Given the description of an element on the screen output the (x, y) to click on. 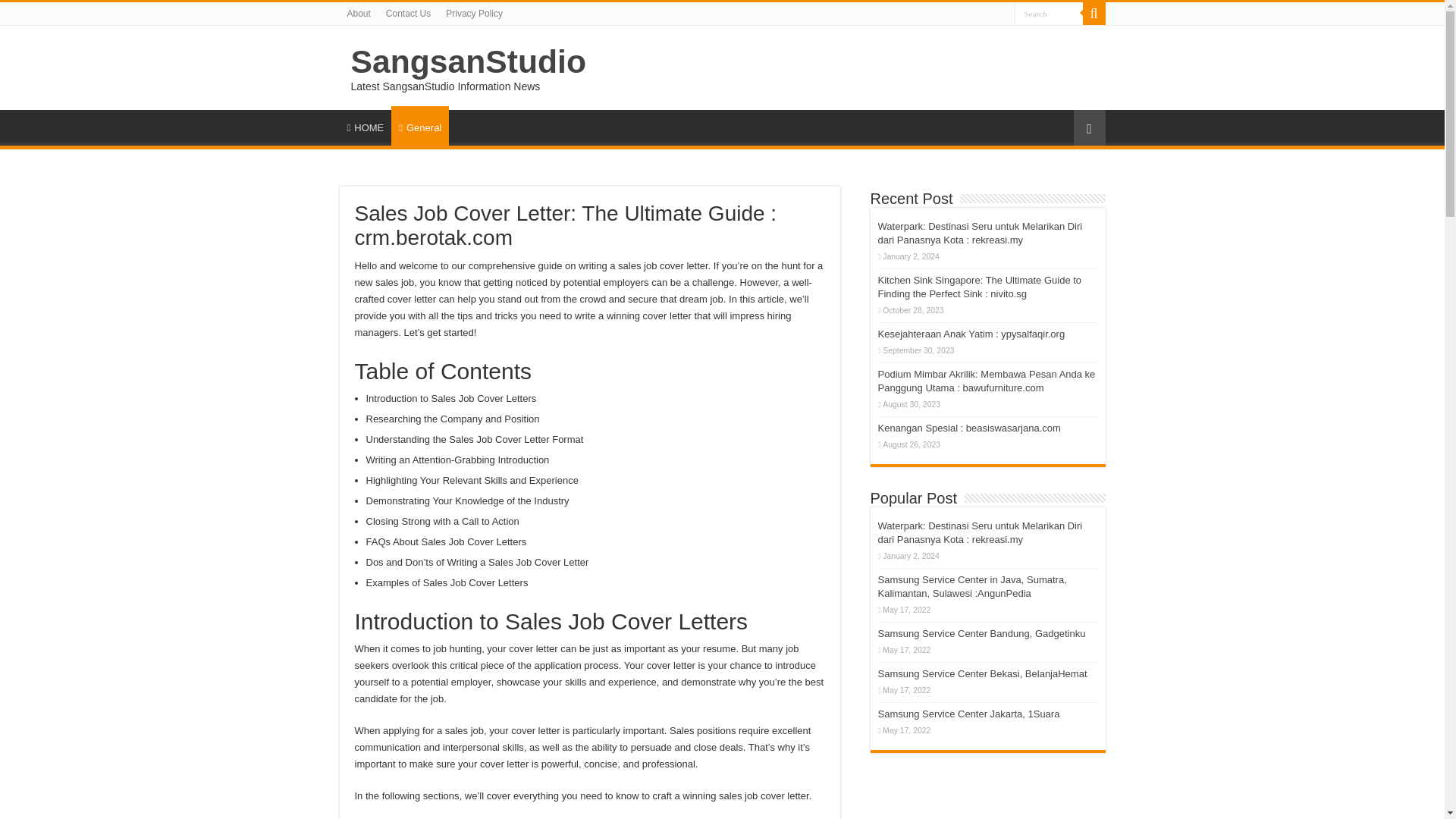
Search (1048, 13)
About (358, 13)
Kenangan Spesial : beasiswasarjana.com (969, 428)
Samsung Service Center Bandung, Gadgetinku (981, 633)
Search (1048, 13)
Search (1094, 13)
Kesejahteraan Anak Yatim : ypysalfaqir.org (971, 333)
Samsung Service Center Jakarta, 1Suara (968, 713)
SangsanStudio (467, 61)
Privacy Policy (474, 13)
General (419, 125)
